Given the description of an element on the screen output the (x, y) to click on. 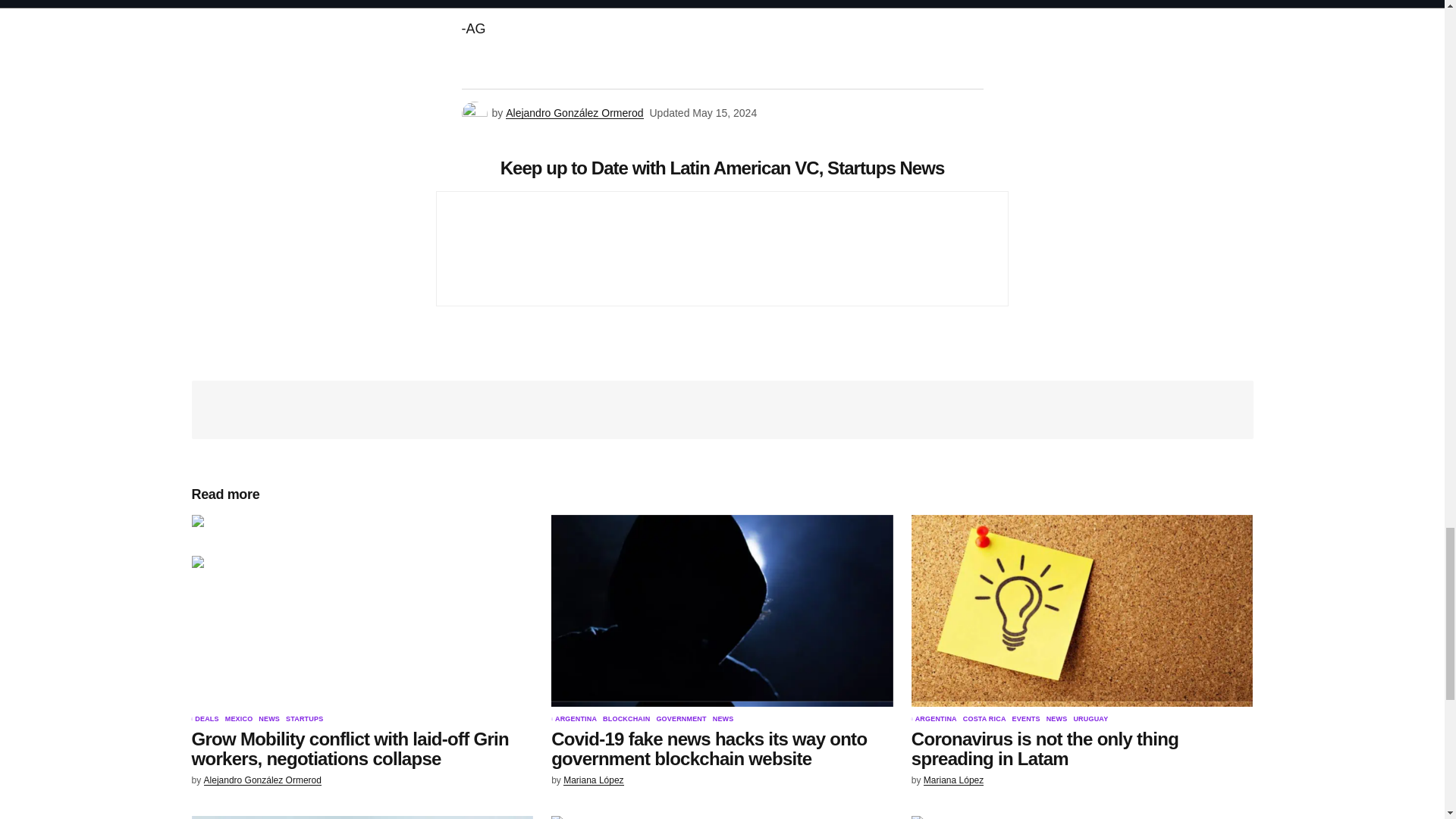
Coronavirus is not the only thing spreading in Latam (1082, 610)
